Given the description of an element on the screen output the (x, y) to click on. 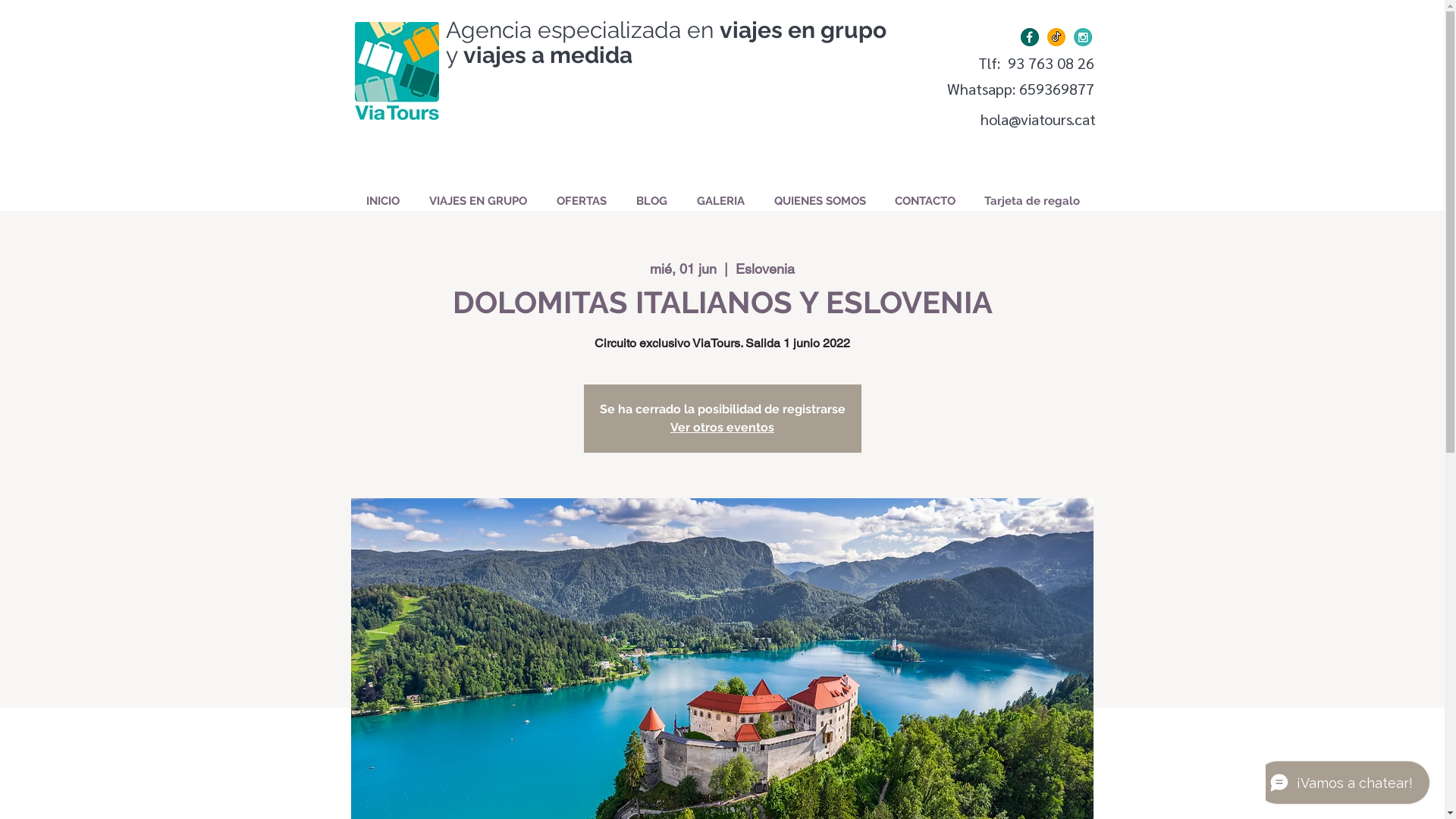
hola@viatours.cat Element type: text (1037, 118)
viatours.jpg Element type: hover (396, 70)
VIAJES EN GRUPO Element type: text (477, 200)
Ver otros eventos Element type: text (722, 427)
BLOG Element type: text (651, 200)
659369877 Element type: text (1056, 88)
OFERTAS Element type: text (581, 200)
93 763 08 26 Element type: text (1050, 62)
INICIO Element type: text (382, 200)
CONTACTO Element type: text (924, 200)
QUIENES SOMOS Element type: text (819, 200)
GALERIA Element type: text (720, 200)
Tarjeta de regalo Element type: text (1031, 200)
